Given the description of an element on the screen output the (x, y) to click on. 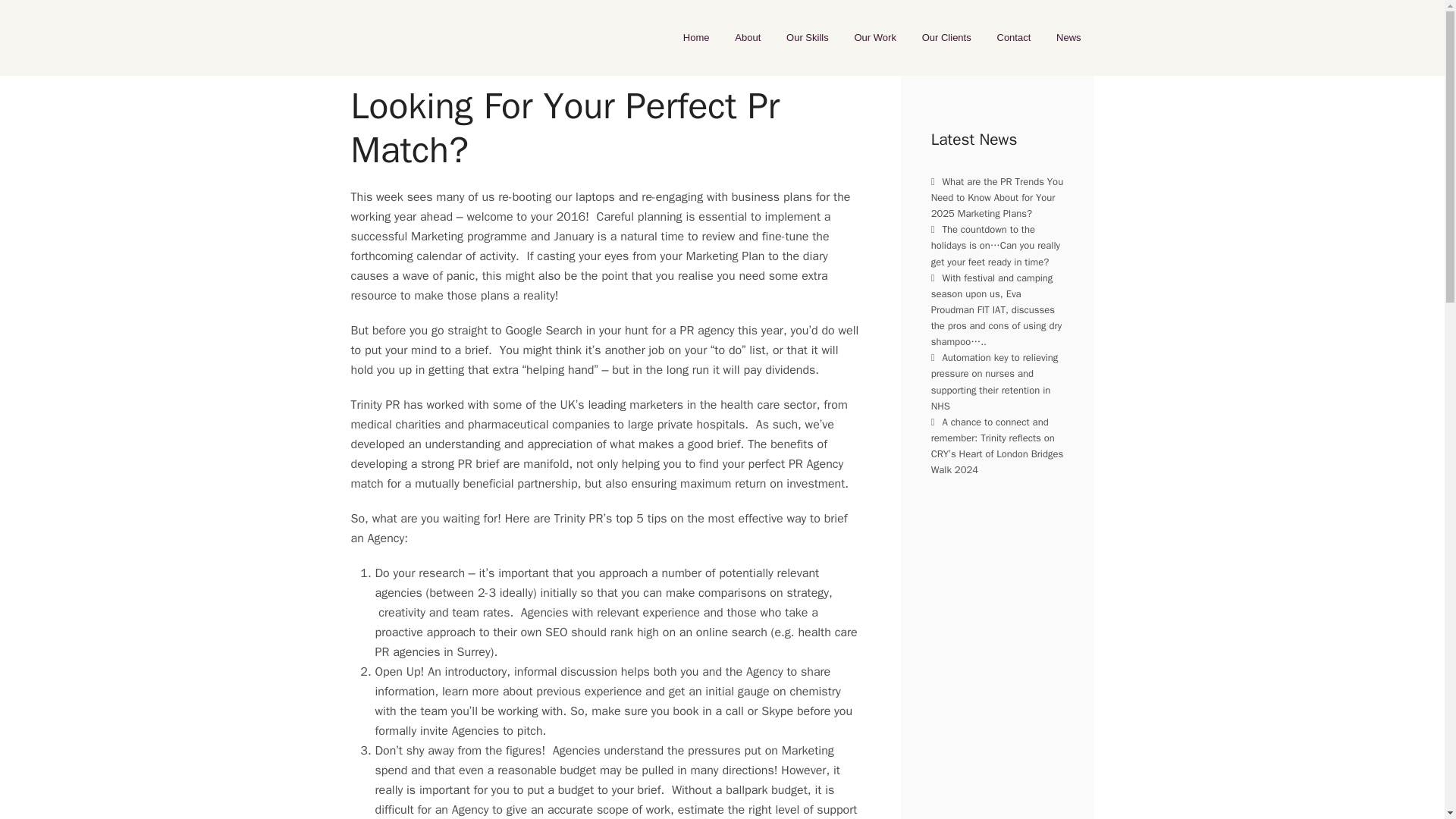
Our Skills (807, 37)
About (747, 37)
News (1068, 37)
Contact (1013, 37)
Home (695, 37)
Our Clients (946, 37)
